Given the description of an element on the screen output the (x, y) to click on. 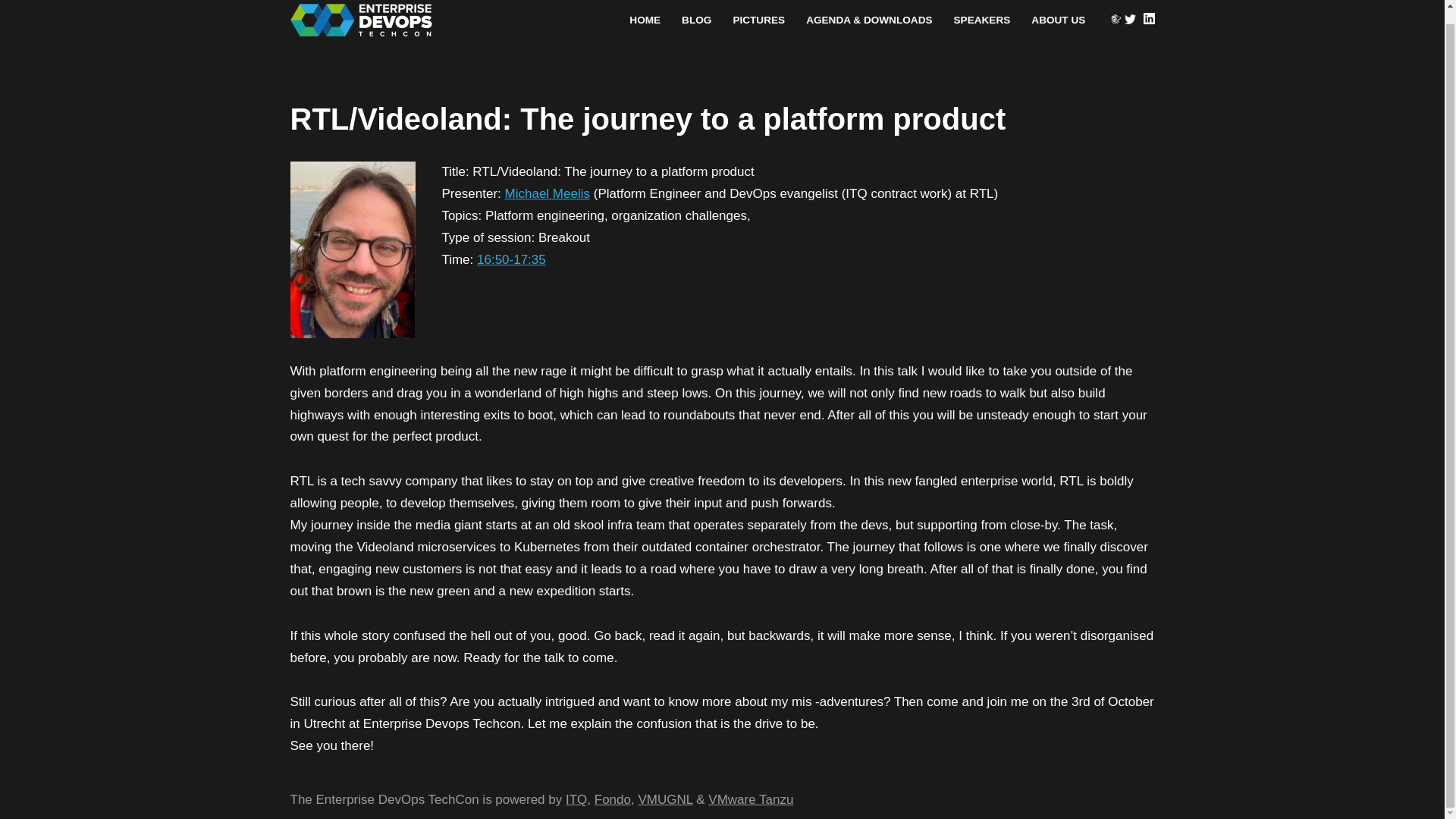
HOME (644, 19)
BLOG (696, 19)
ITQ (576, 799)
VMUGNL (665, 799)
Skip to content (11, 17)
PICTURES (758, 19)
Fondo (612, 799)
SPEAKERS (981, 19)
16:50-17:35 (511, 259)
Michael Meelis (547, 193)
VMware Tanzu (750, 799)
ABOUT US (1057, 19)
